Given the description of an element on the screen output the (x, y) to click on. 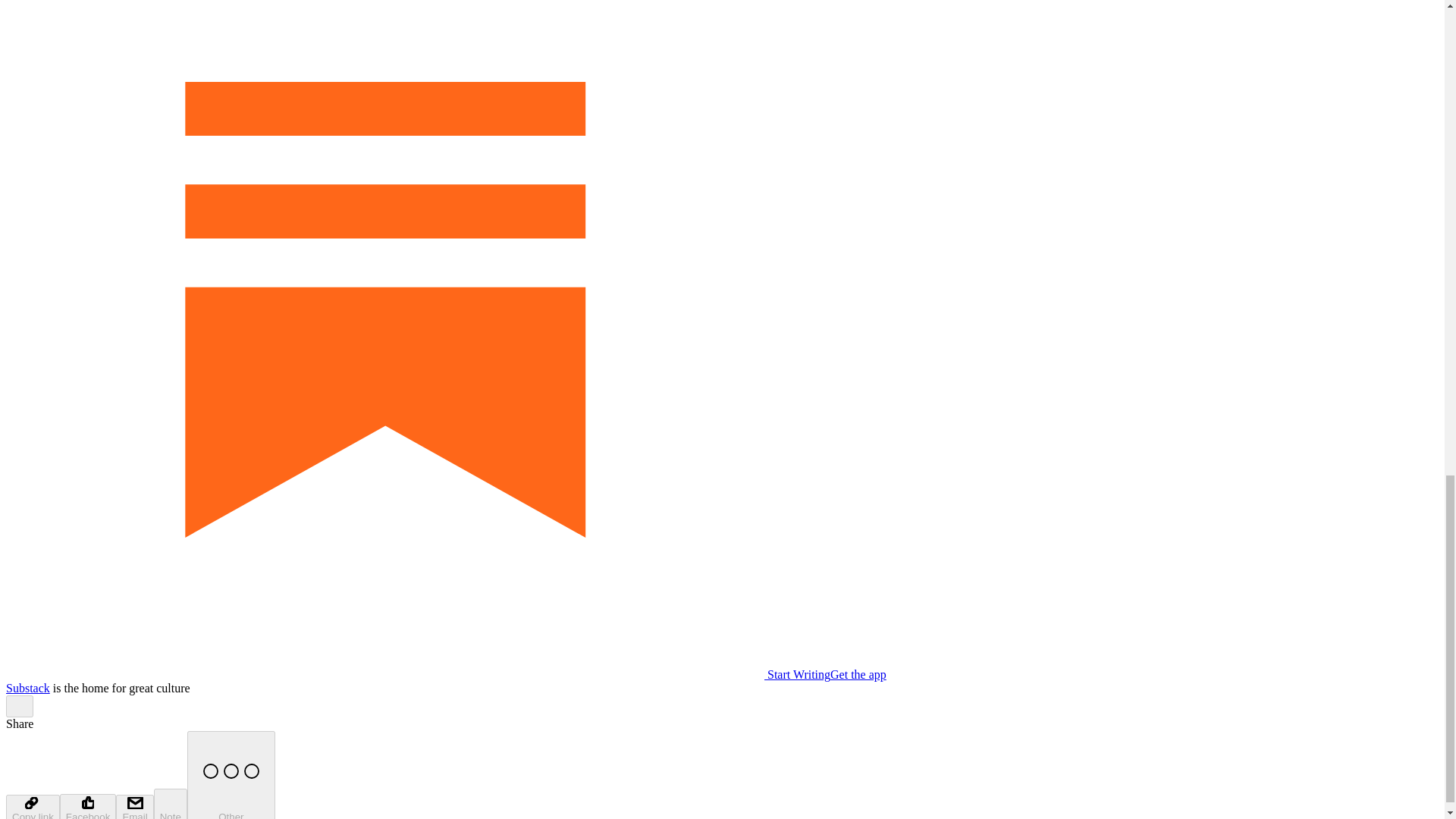
Start Writing (417, 674)
Get the app (857, 674)
Substack (27, 687)
